Given the description of an element on the screen output the (x, y) to click on. 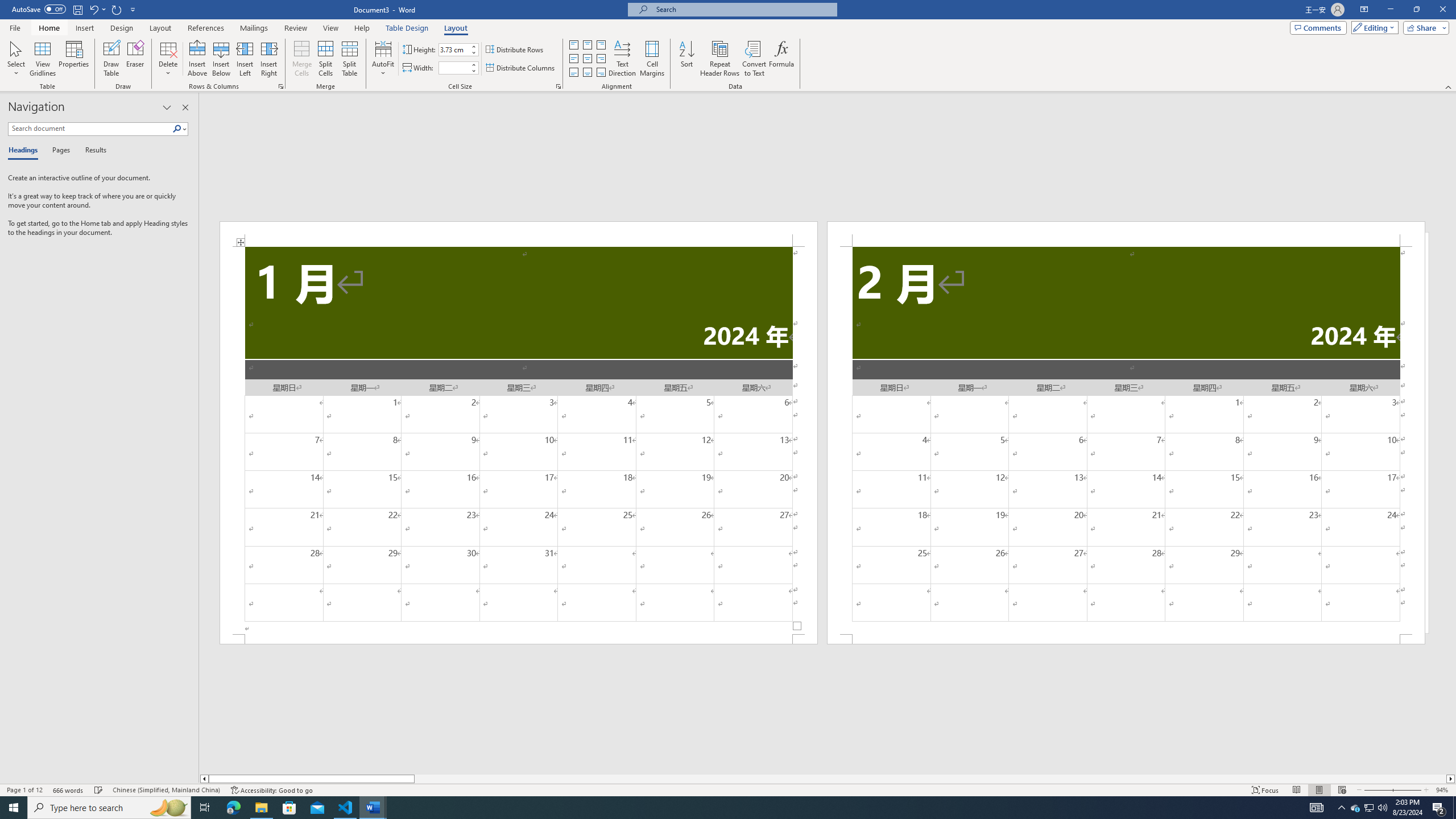
Table Row Height (453, 49)
Properties... (558, 85)
Page 2 content (1126, 439)
Insert Right (269, 58)
Align Center (587, 58)
